Given the description of an element on the screen output the (x, y) to click on. 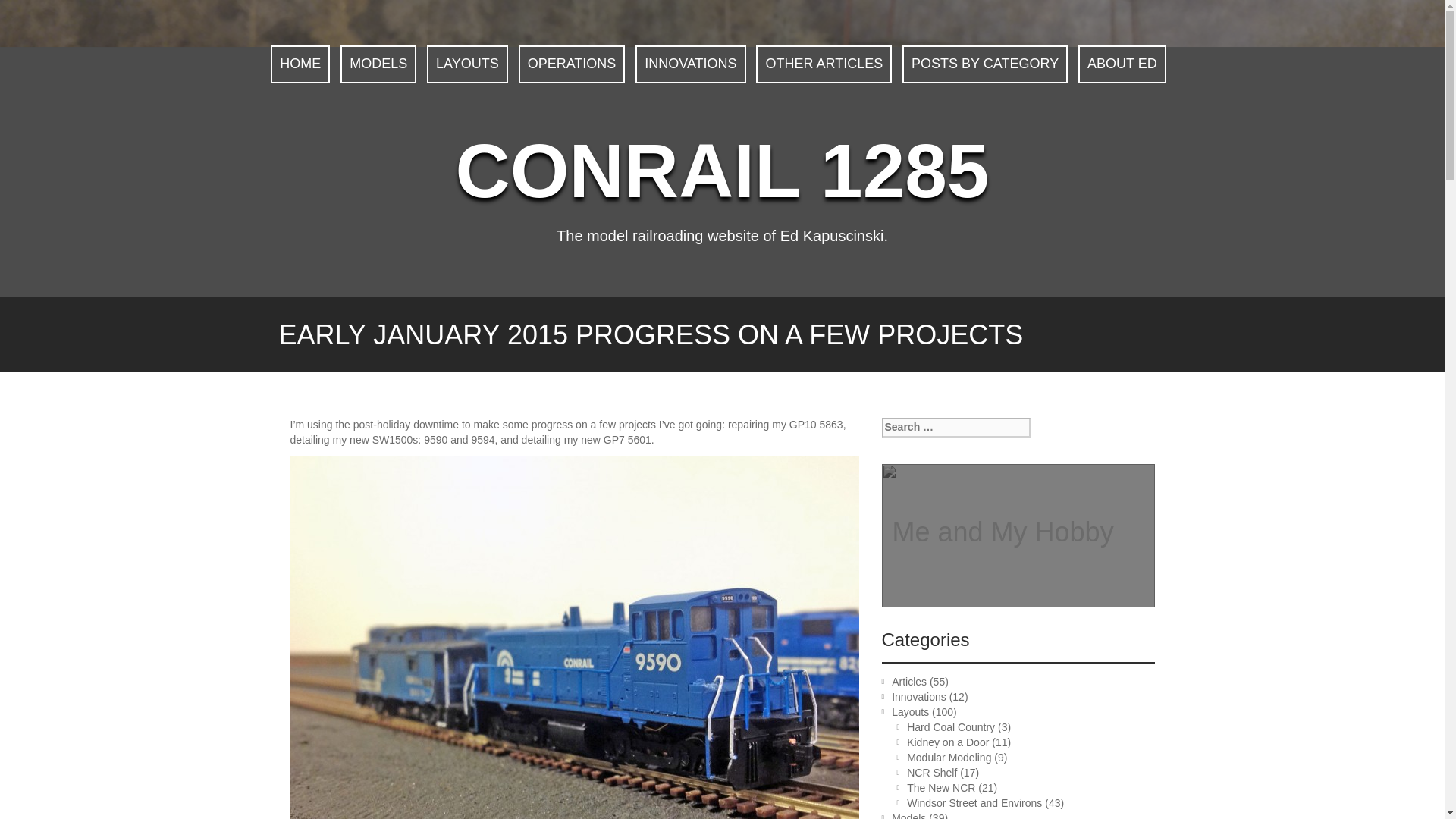
LAYOUTS (467, 64)
ABOUT ED (1122, 64)
POSTS BY CATEGORY (984, 64)
NCR Shelf (931, 772)
Search (22, 9)
CONRAIL 1285 (722, 169)
Kidney on a Door (947, 742)
Modular Modeling (949, 757)
Innovations (918, 696)
Articles (908, 681)
OPERATIONS (571, 64)
MODELS (378, 64)
INNOVATIONS (690, 64)
OTHER ARTICLES (823, 64)
Me and My Hobby (1002, 531)
